Given the description of an element on the screen output the (x, y) to click on. 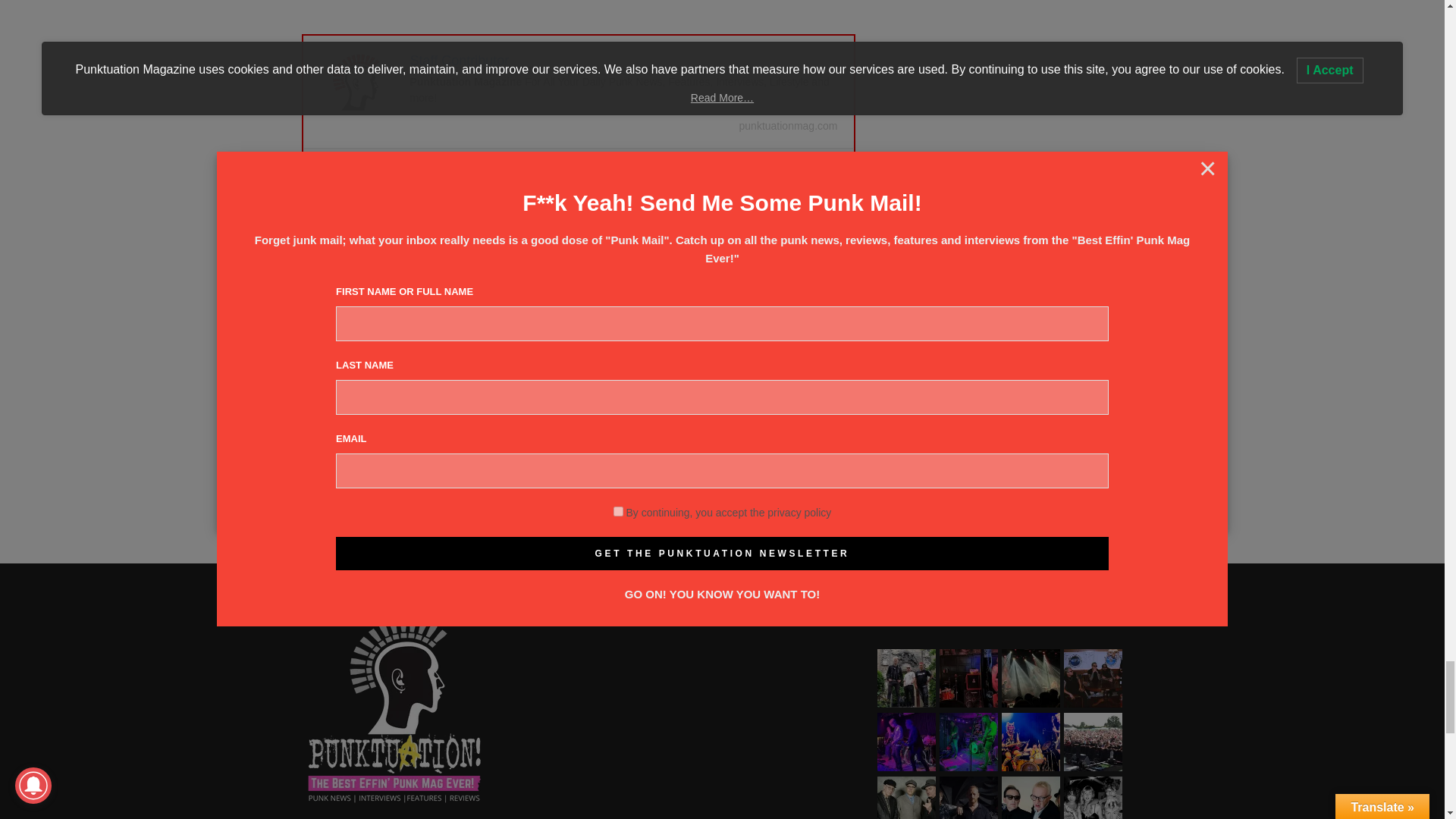
punktuationmag.com (788, 125)
Staff Contributor (458, 60)
